Given the description of an element on the screen output the (x, y) to click on. 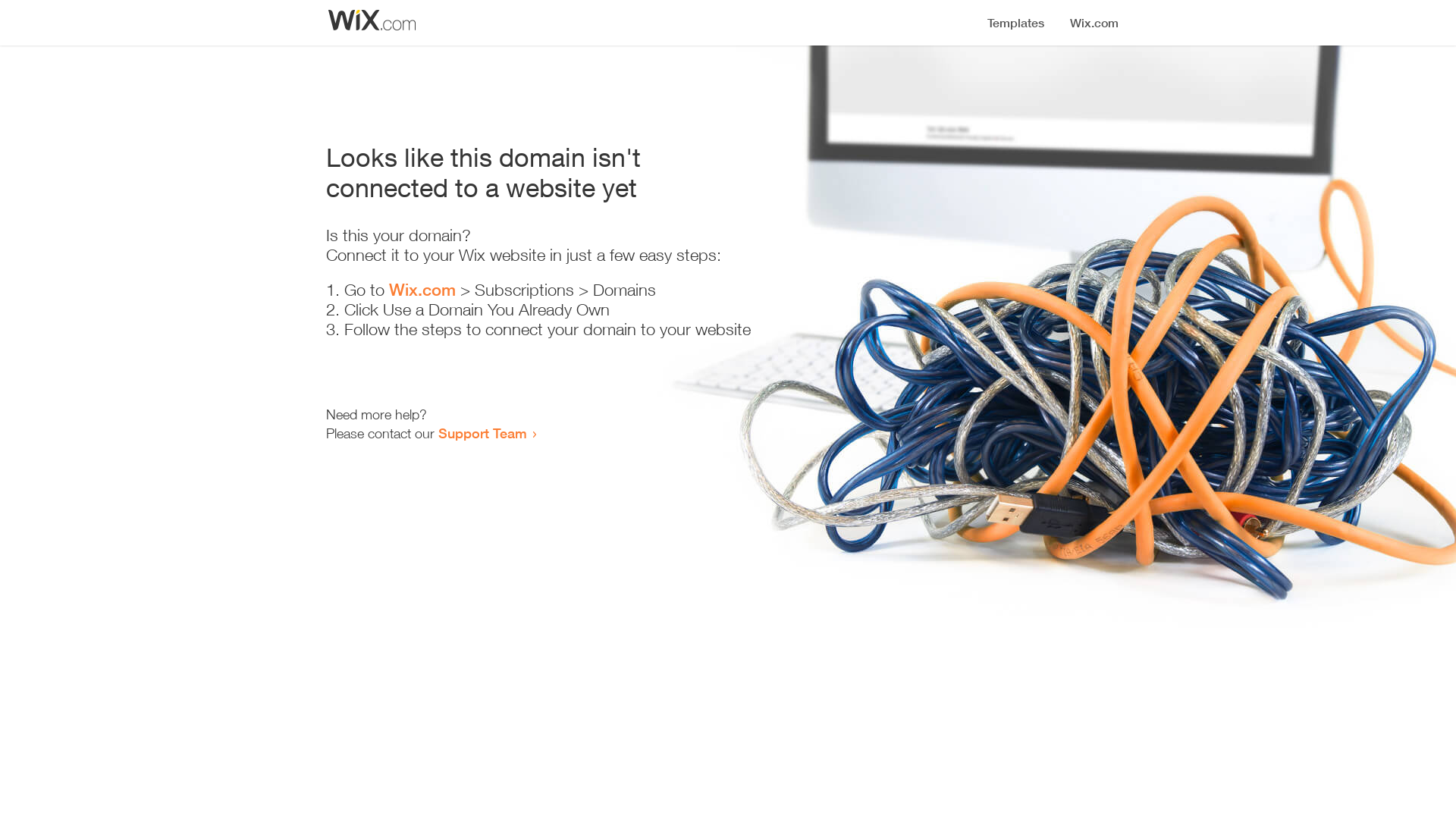
Support Team Element type: text (482, 432)
Wix.com Element type: text (422, 289)
